Given the description of an element on the screen output the (x, y) to click on. 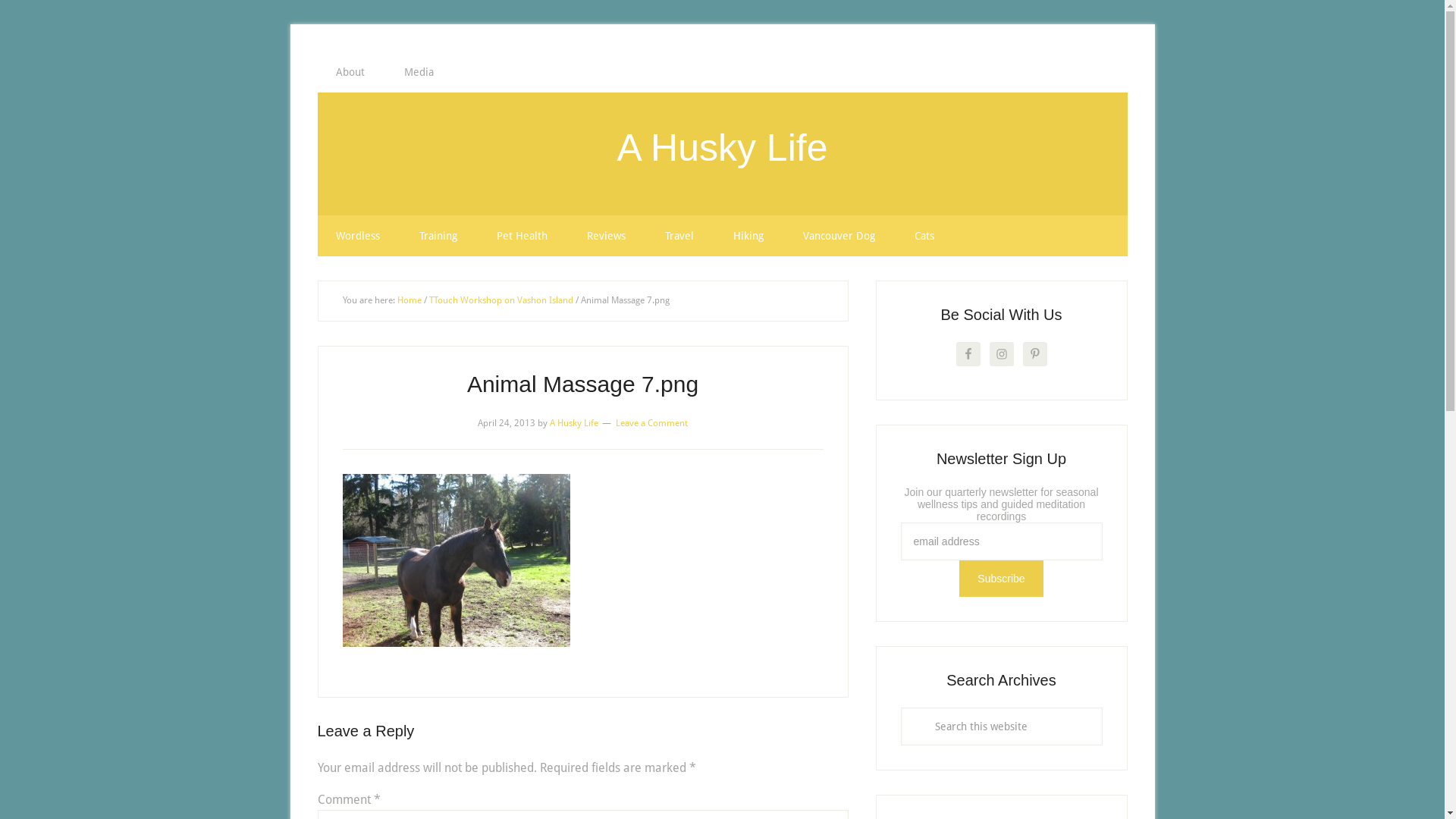
A Husky Life Element type: text (573, 422)
Reviews Element type: text (605, 235)
Subscribe Element type: text (1000, 578)
Leave a Comment Element type: text (651, 422)
Hiking Element type: text (747, 235)
Media Element type: text (418, 71)
A Husky Life Element type: text (722, 147)
Pet Health Element type: text (520, 235)
About Element type: text (349, 71)
Cats Element type: text (924, 235)
TTouch Workshop on Vashon Island Element type: text (501, 299)
Training Element type: text (437, 235)
Home Element type: text (409, 299)
Vancouver Dog Element type: text (838, 235)
Search Element type: text (1101, 706)
Wordless Element type: text (356, 235)
Travel Element type: text (678, 235)
